Given the description of an element on the screen output the (x, y) to click on. 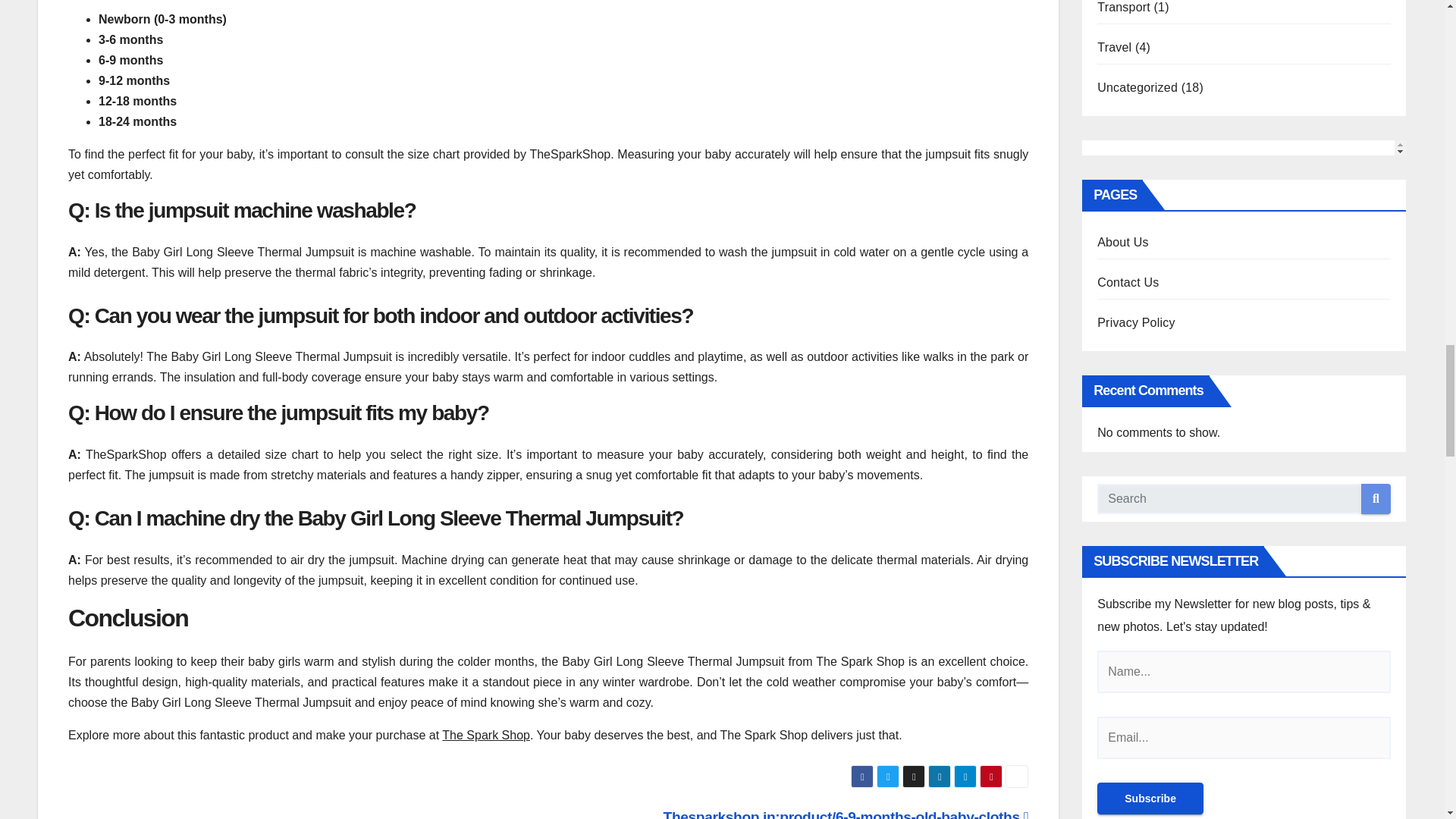
The Spark Shop (485, 735)
Subscribe (1150, 798)
